Given the description of an element on the screen output the (x, y) to click on. 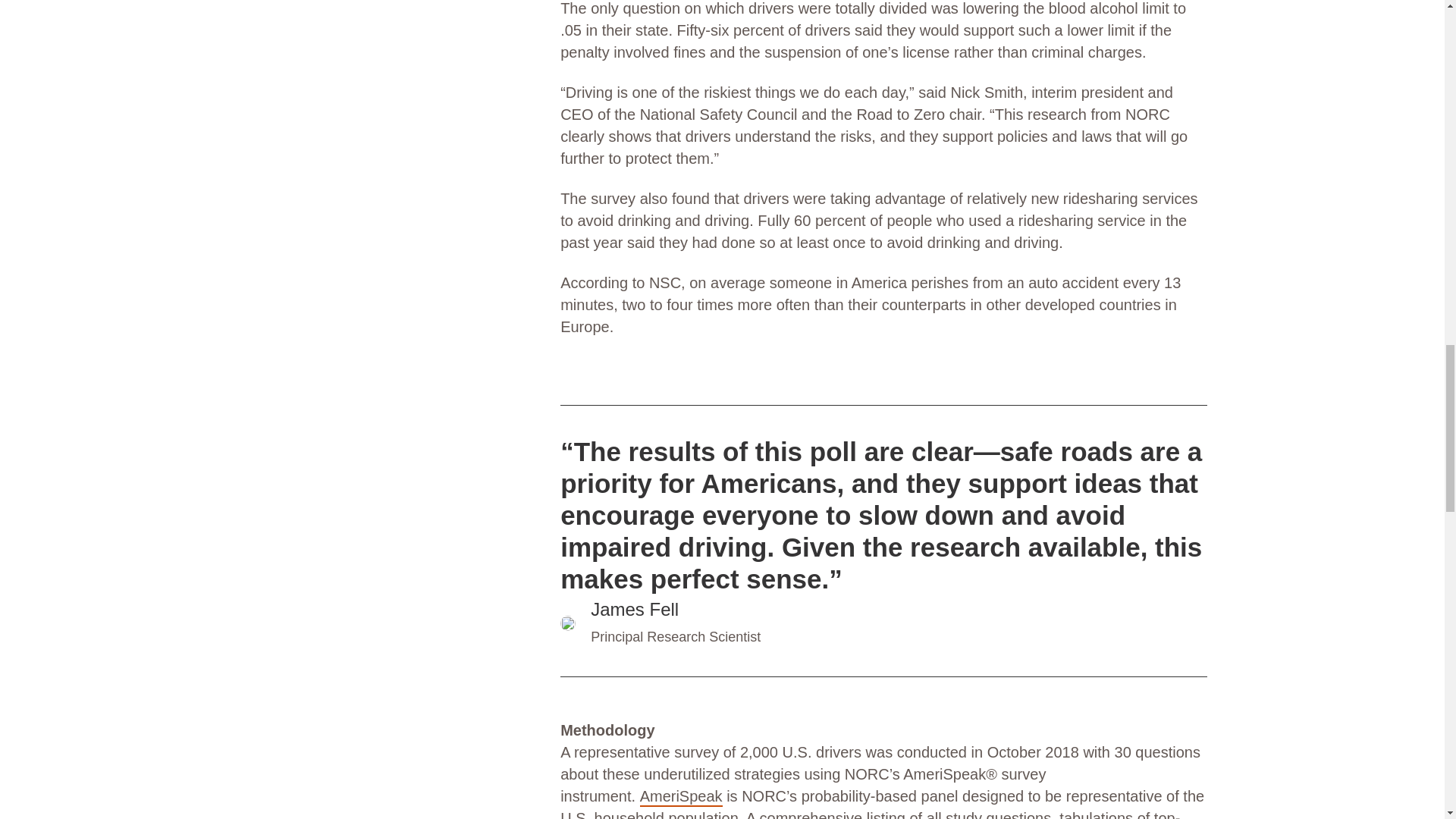
AmeriSpeak (681, 796)
